Given the description of an element on the screen output the (x, y) to click on. 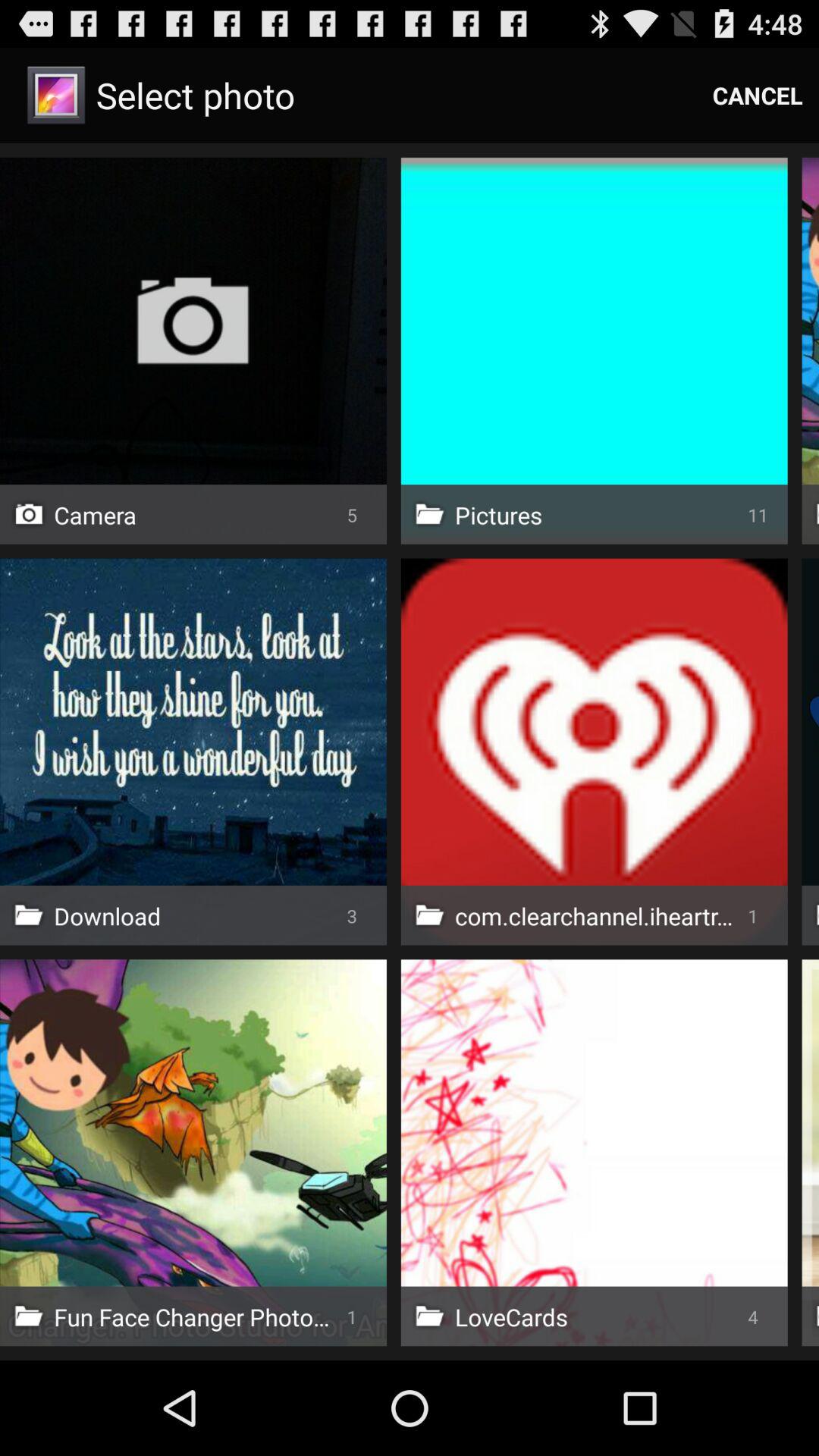
turn on item next to the select photo icon (757, 95)
